Given the description of an element on the screen output the (x, y) to click on. 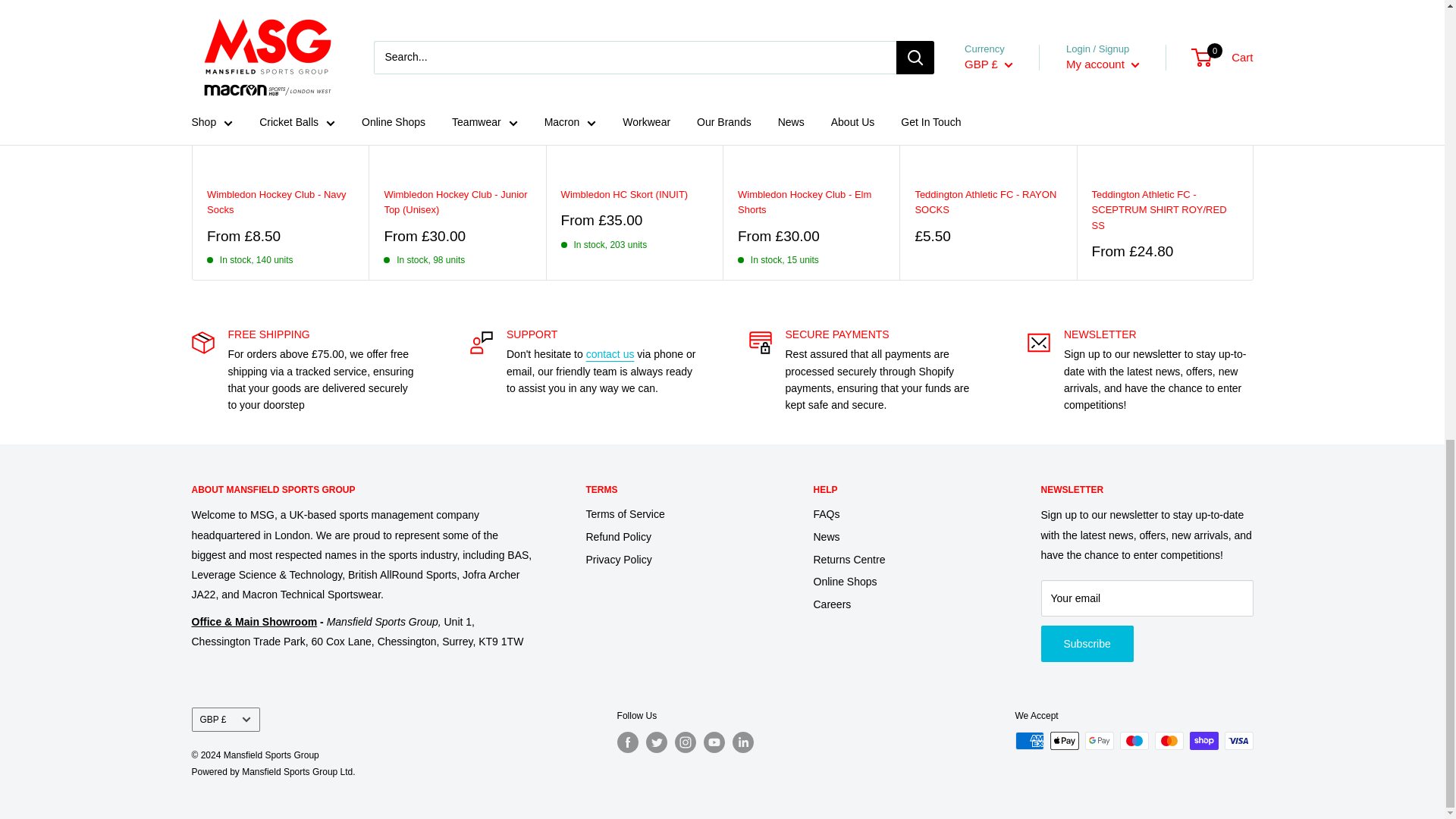
Get in Touch (610, 354)
